Given the description of an element on the screen output the (x, y) to click on. 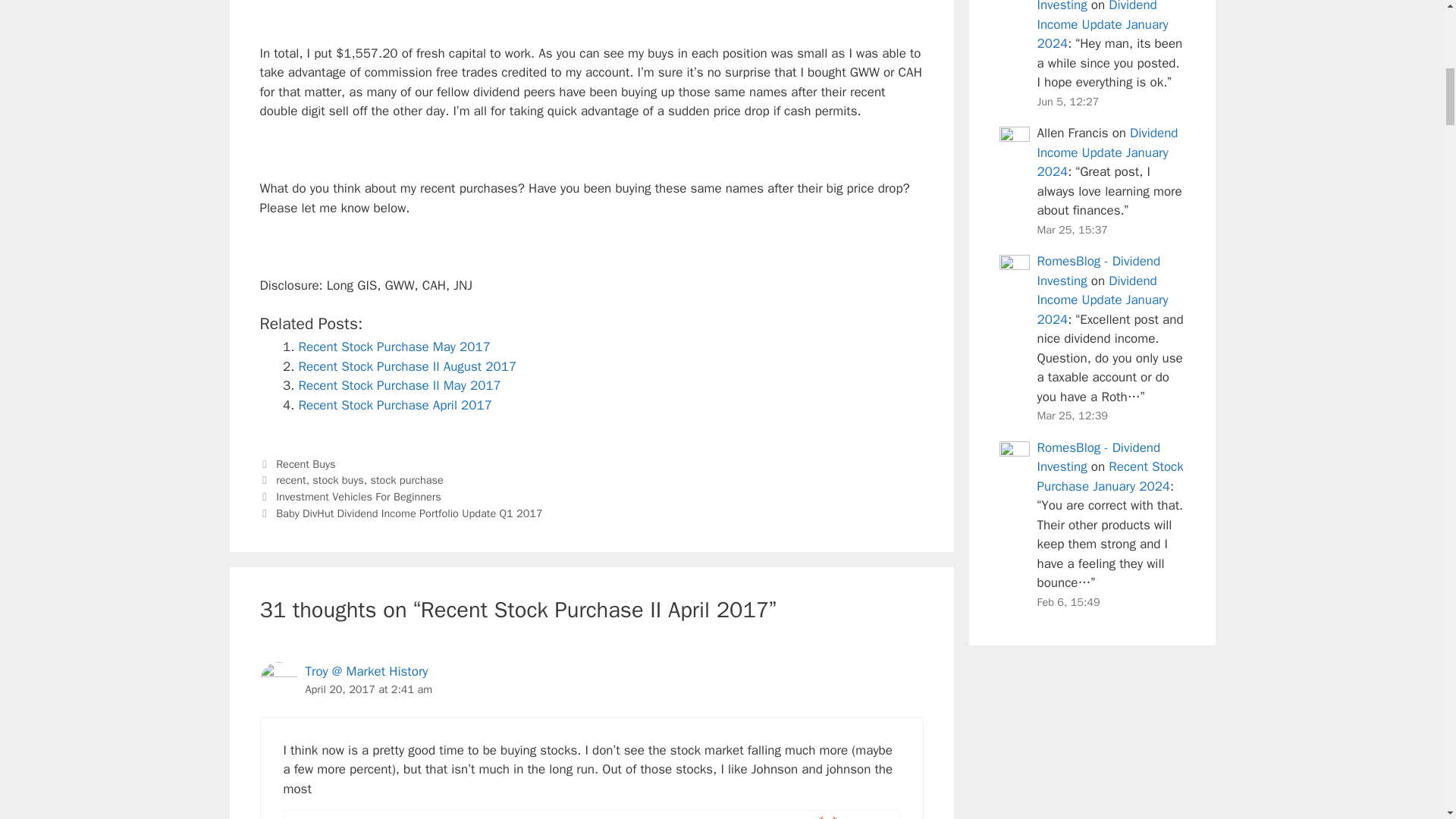
Recent Stock Purchase II August 2017 (407, 366)
stock buys (338, 479)
Recent Stock Purchase April 2017 (395, 405)
Recent Stock Purchase May 2017 (394, 346)
Recent Stock Purchase II May 2017 (399, 385)
recent (290, 479)
Recent Stock Purchase II August 2017 (407, 366)
Baby DivHut Dividend Income Portfolio Update Q1 2017 (409, 513)
April 20, 2017 at 2:41 am (368, 689)
Recent Stock Purchase May 2017 (394, 346)
Scroll back to top (1406, 720)
Recent Stock Purchase April 2017 (395, 405)
Recent Buys (305, 463)
Recent Stock Purchase II May 2017 (399, 385)
